Given the description of an element on the screen output the (x, y) to click on. 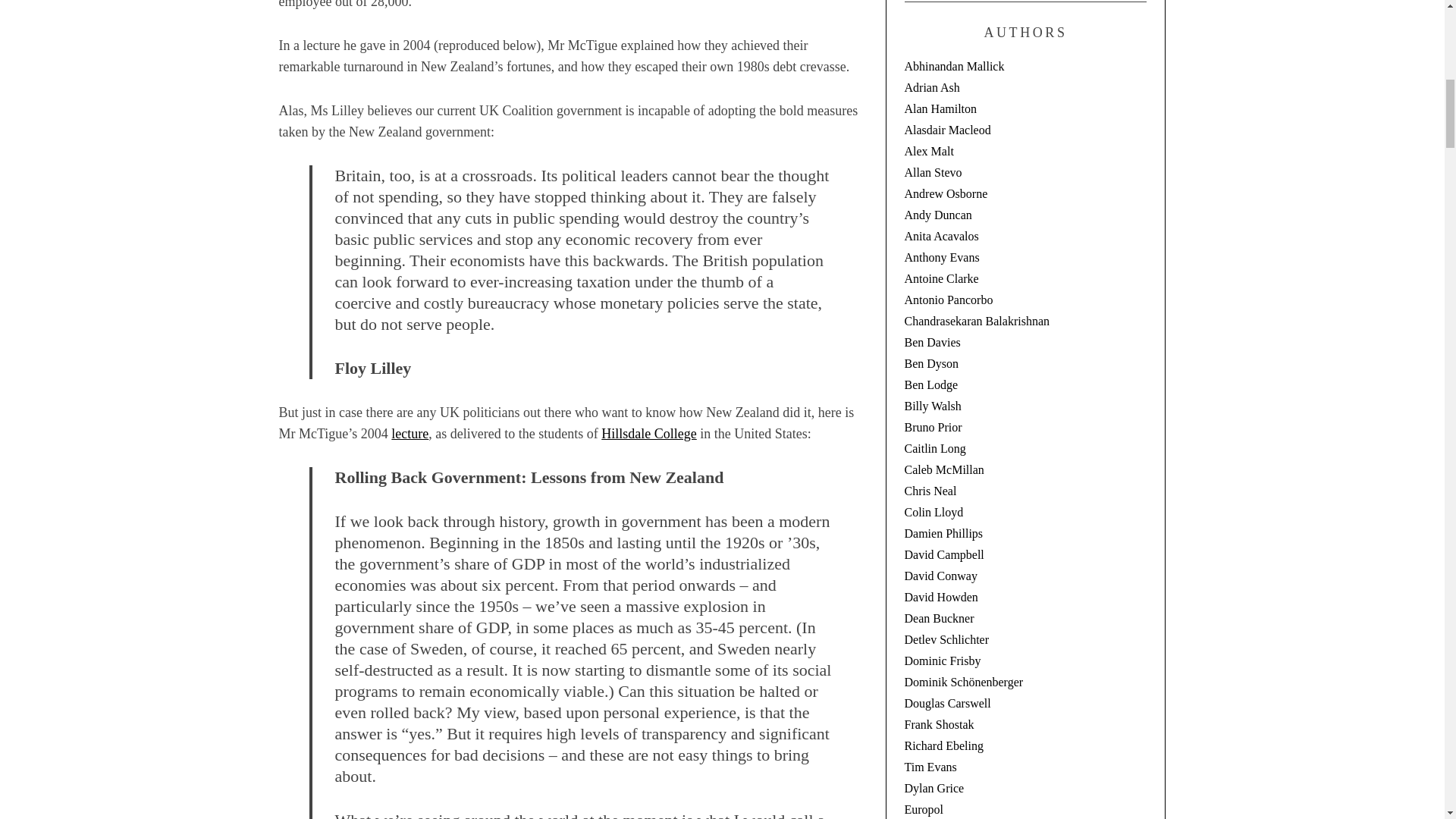
Posts by Alan Hamilton (940, 108)
Posts by Allan Stevo (932, 172)
Posts by Anthony J. Evans (941, 256)
Posts by Adrian Ash (931, 87)
Posts by Andrew Osborne (945, 193)
Hillsdale College (648, 433)
Posts by Alex Malt (928, 151)
Posts by Alasdair Macleod (947, 129)
Posts by Andy Duncan (937, 214)
Posts by Anita Acavalos (941, 236)
Posts by Abhinandan Mallick (954, 65)
lecture (409, 433)
